Given the description of an element on the screen output the (x, y) to click on. 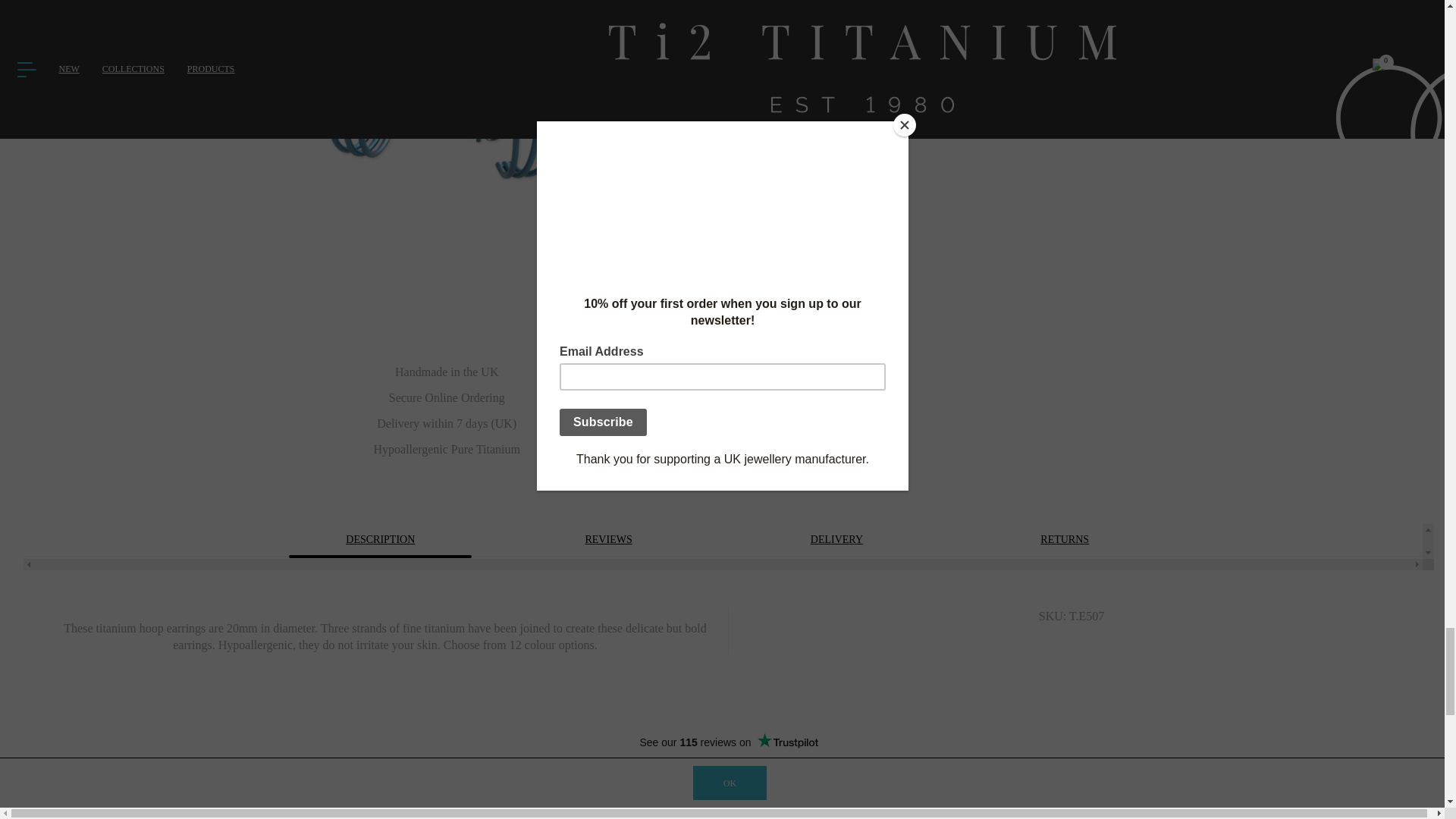
Customer reviews powered by Trustpilot (727, 742)
